Given the description of an element on the screen output the (x, y) to click on. 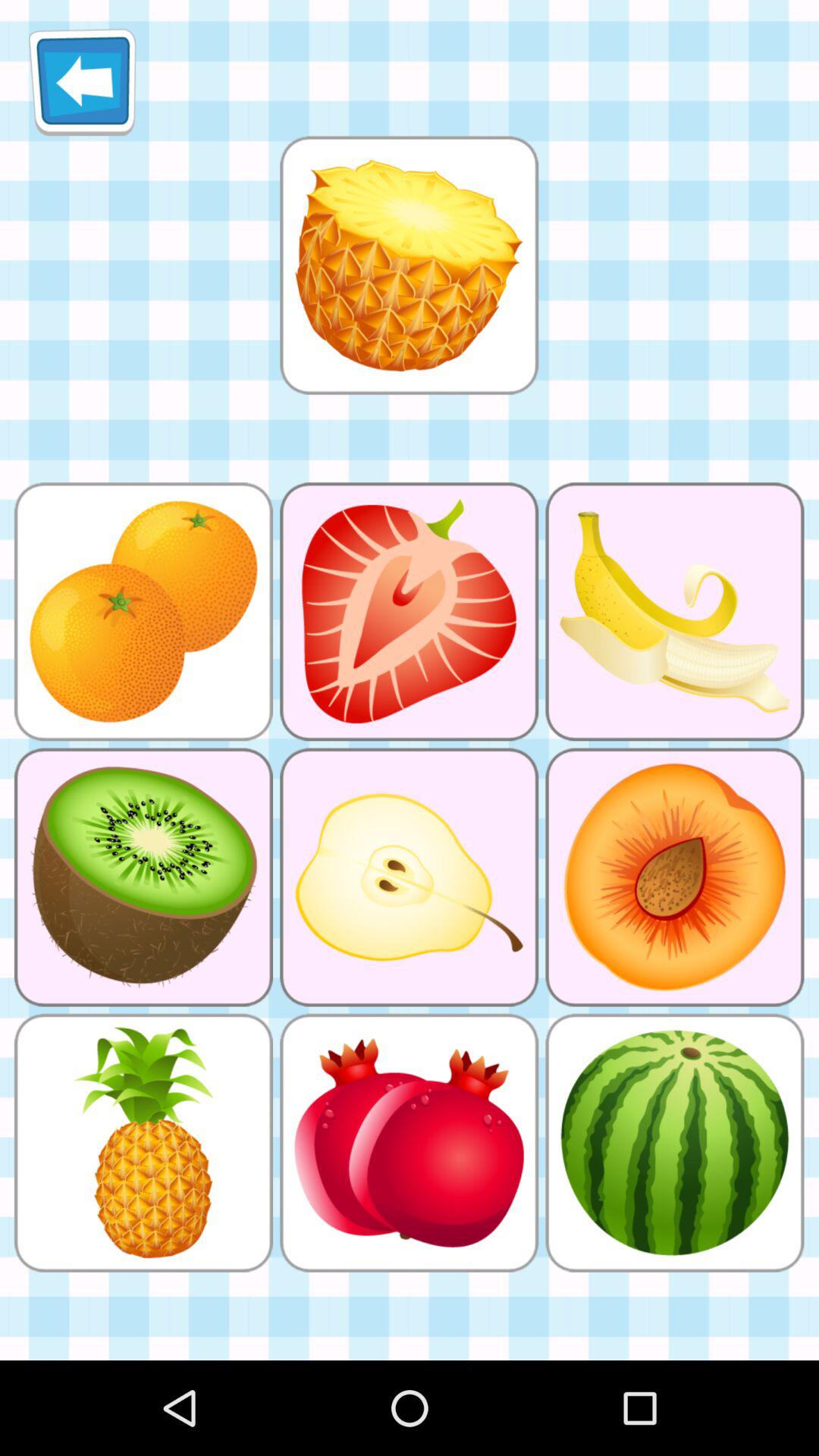
click for larger picture (409, 265)
